Given the description of an element on the screen output the (x, y) to click on. 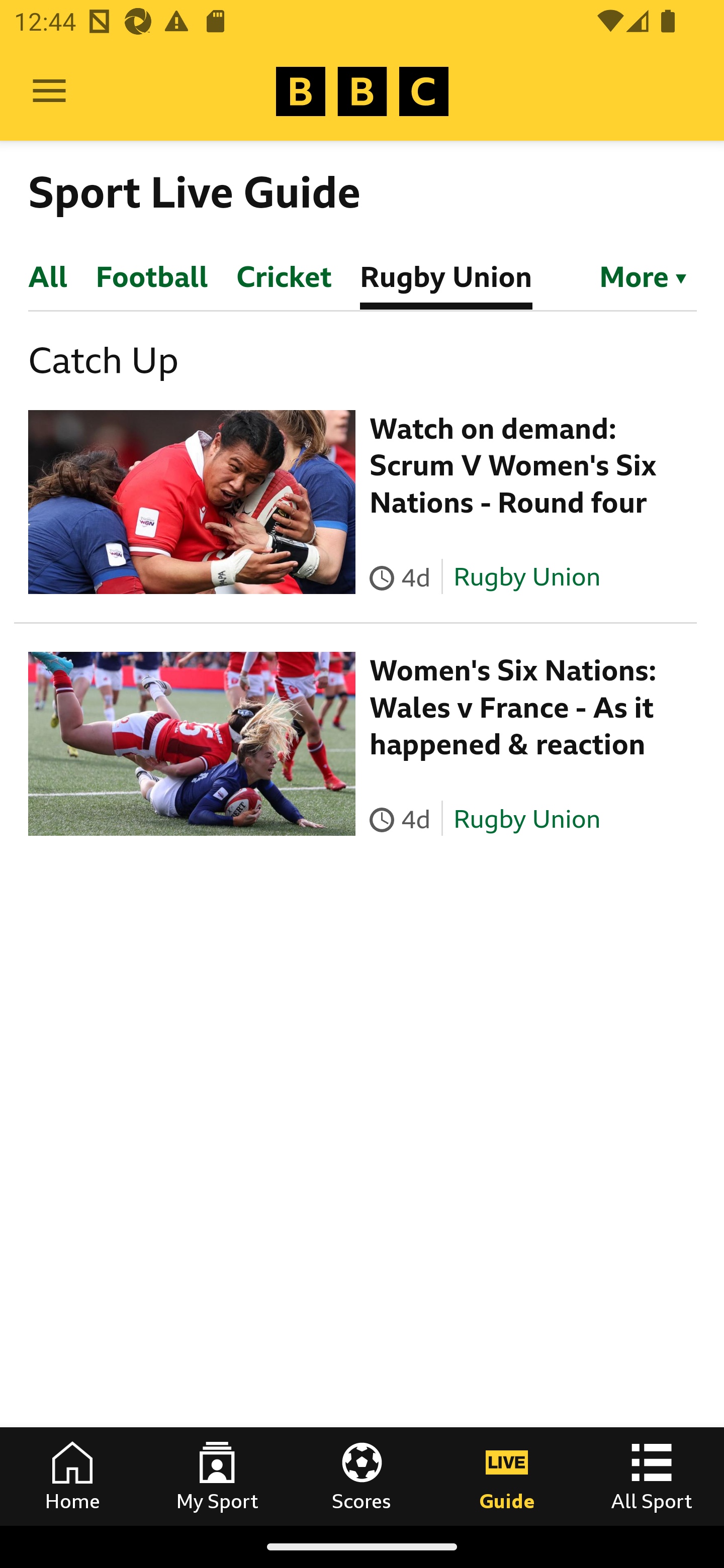
Open Menu (49, 91)
Filter by section. Currently selected: Rugby Union (634, 275)
Rugby Union (526, 576)
Rugby Union (526, 818)
Home (72, 1475)
My Sport (216, 1475)
Scores (361, 1475)
All Sport (651, 1475)
